Given the description of an element on the screen output the (x, y) to click on. 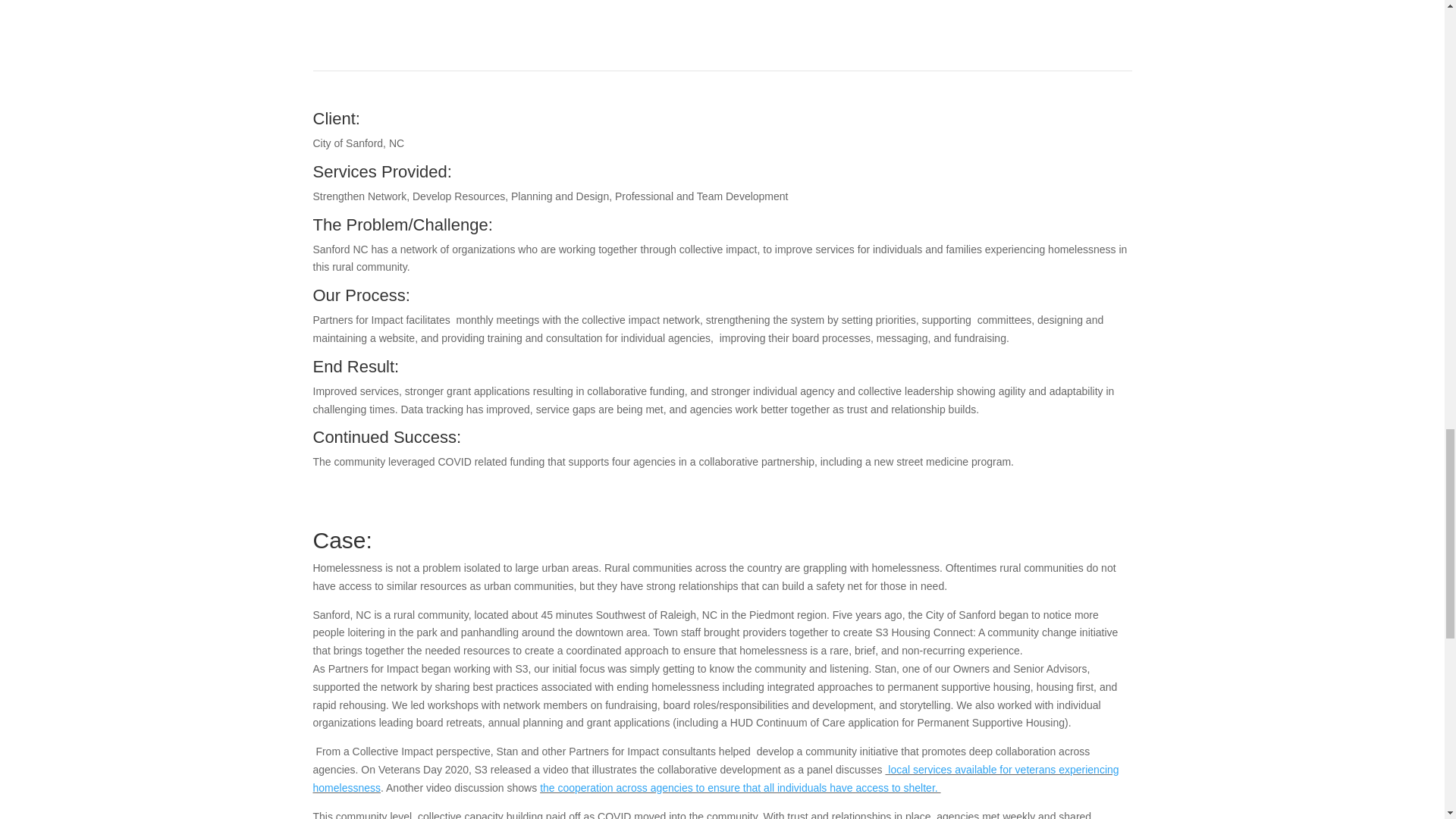
S3 Housing Connect Shelter Providers (981, 14)
